Given the description of an element on the screen output the (x, y) to click on. 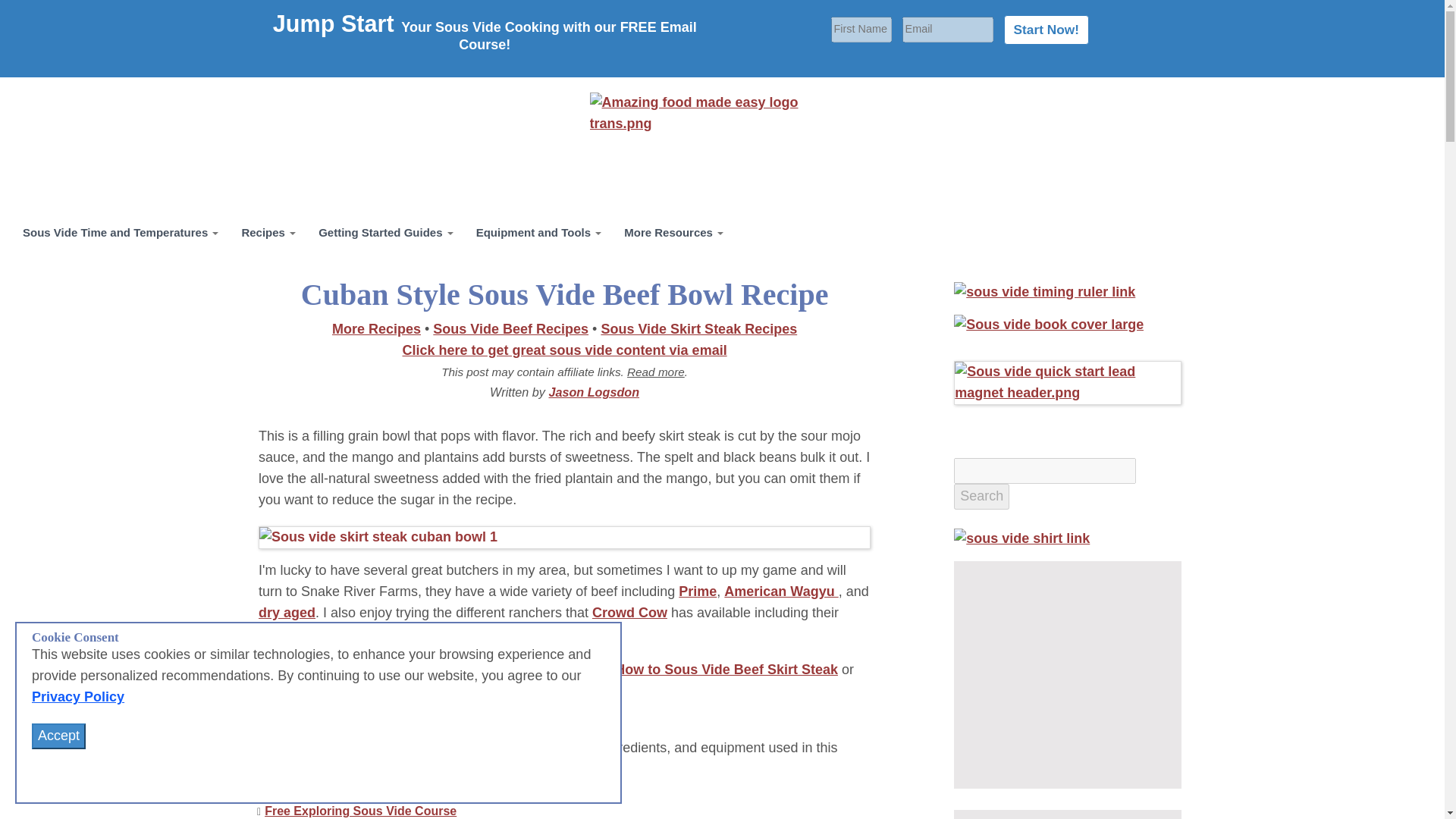
Getting Started Guides (385, 232)
Sous Vide Time and Temperatures (120, 232)
Sous vide quick start lead magnet header.png (1066, 382)
More Resources (673, 232)
Sous vide skirt steak cuban bowl 1 (564, 537)
Start Now! (1046, 30)
Amazing food made easy logo trans.png (722, 113)
Equipment and Tools (538, 232)
Sous Vide Times and Temps (120, 232)
Recipes (268, 232)
